Given the description of an element on the screen output the (x, y) to click on. 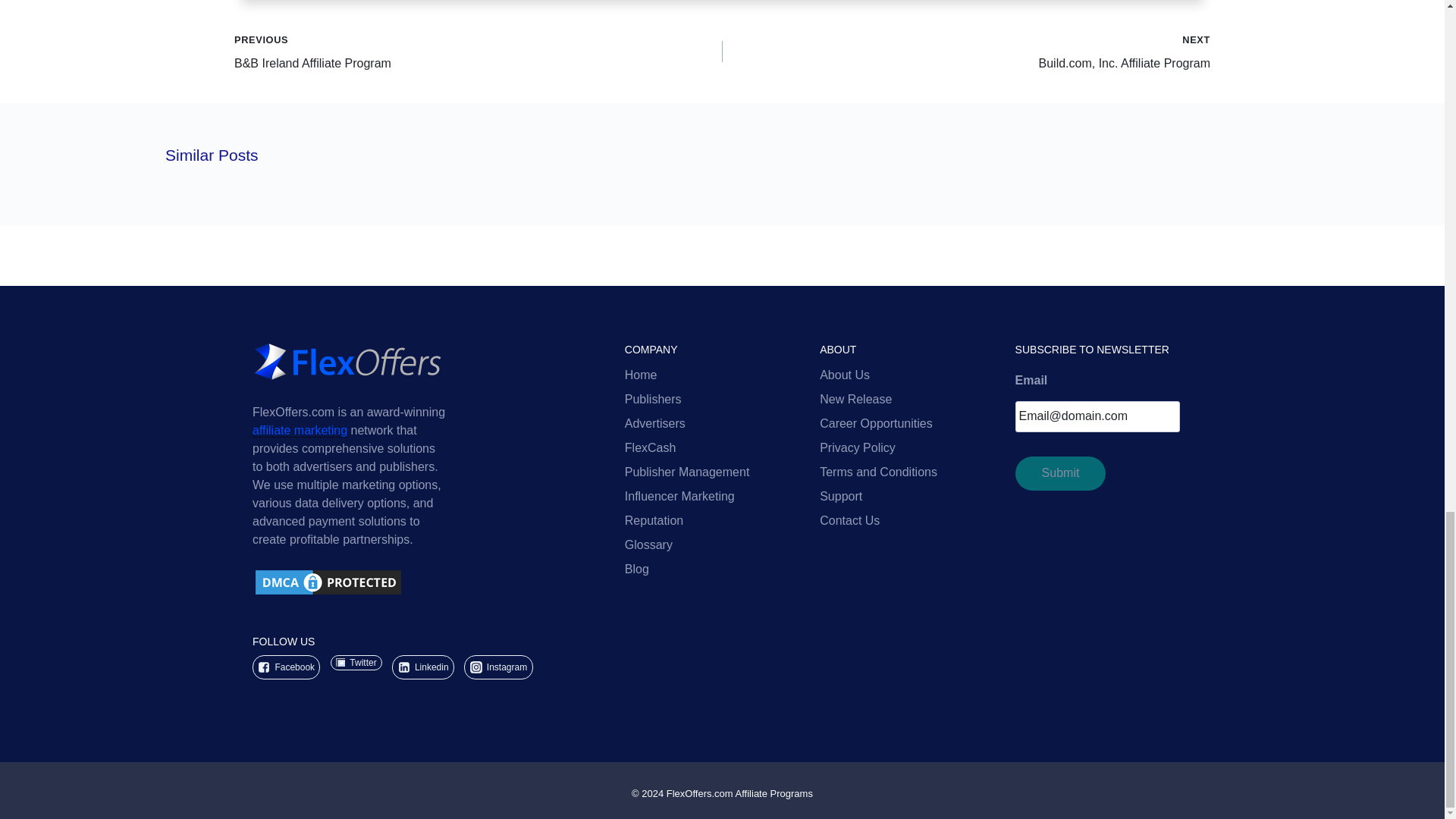
DMCA.com Protection Status (429, 582)
Submit (1060, 473)
